Given the description of an element on the screen output the (x, y) to click on. 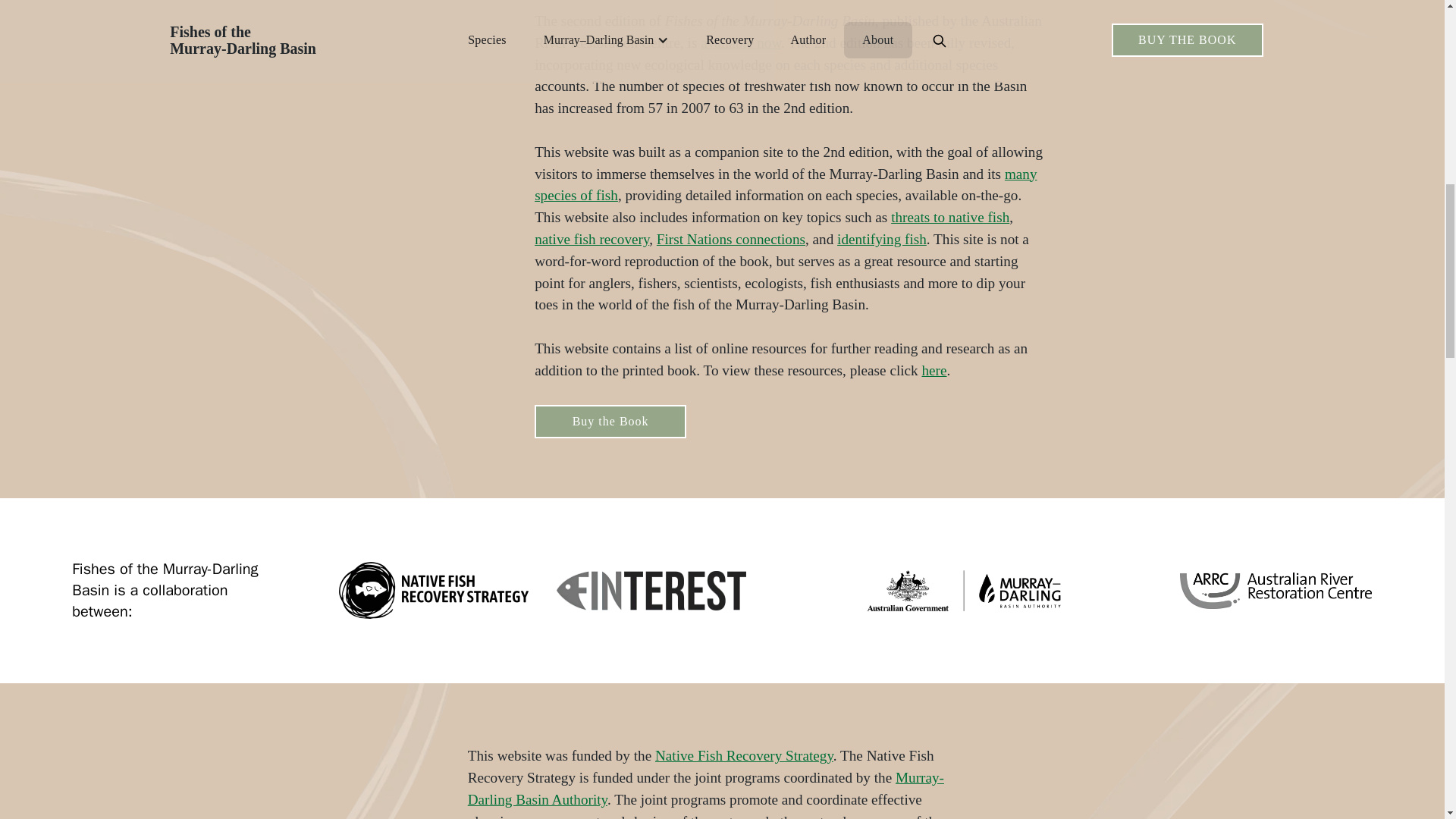
Murray-Darling Basin Authority (705, 788)
here (934, 370)
Buy the Book (609, 421)
Native Fish Recovery Strategy (743, 755)
identifying fish (881, 238)
threats to native fish (950, 217)
First Nations connections (730, 238)
many species of fish (785, 184)
native fish recovery (591, 238)
available now (740, 42)
